Given the description of an element on the screen output the (x, y) to click on. 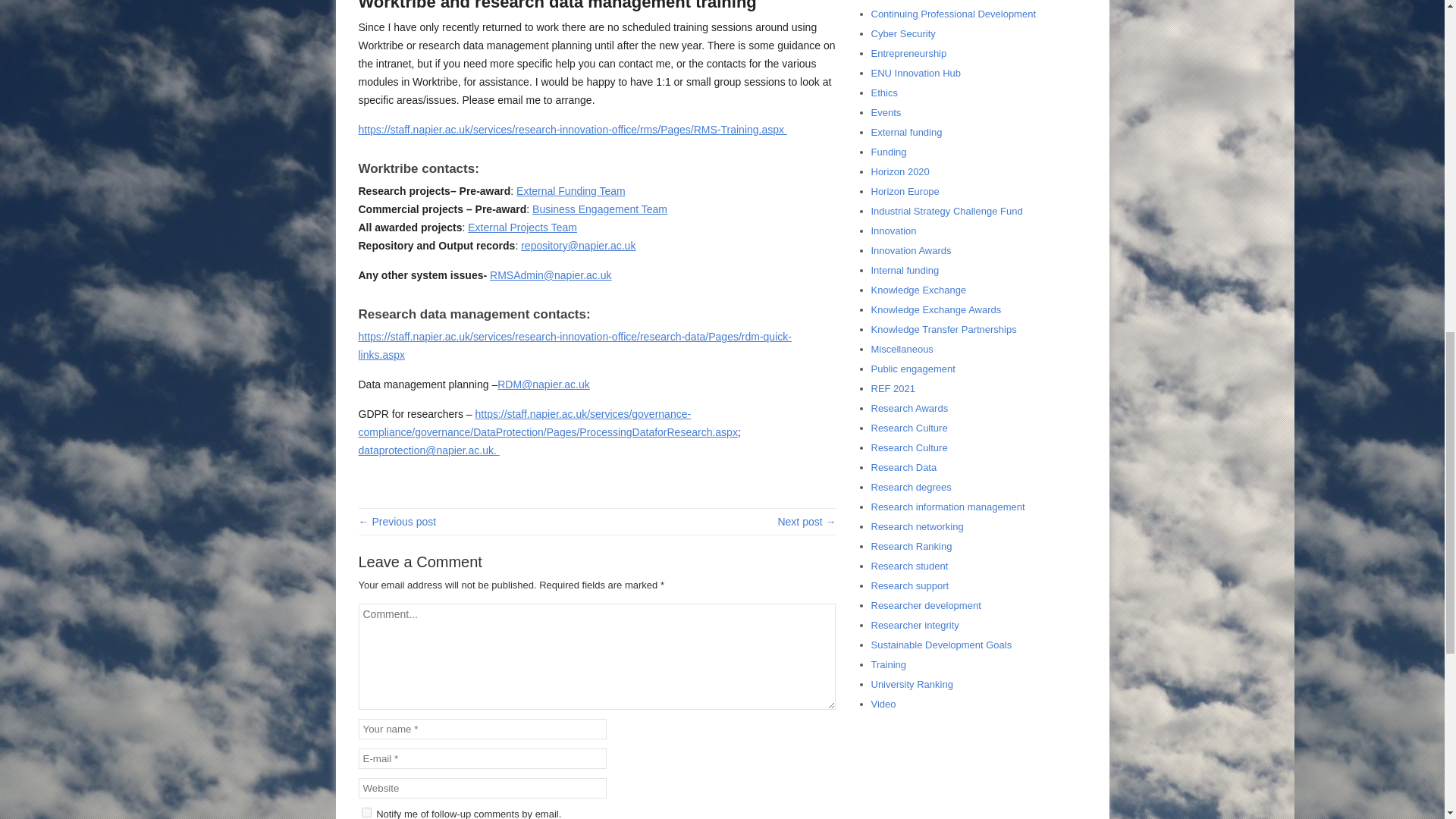
Cyber Security (902, 33)
Business Engagement Team (599, 209)
External Funding Team (571, 191)
REF2021 Resumes (396, 521)
Continuing Professional Development (952, 13)
subscribe (366, 812)
How to Prepare the Best Application for Grant Competitions (806, 521)
Entrepreneurship (908, 52)
External Projects Team (521, 227)
